Given the description of an element on the screen output the (x, y) to click on. 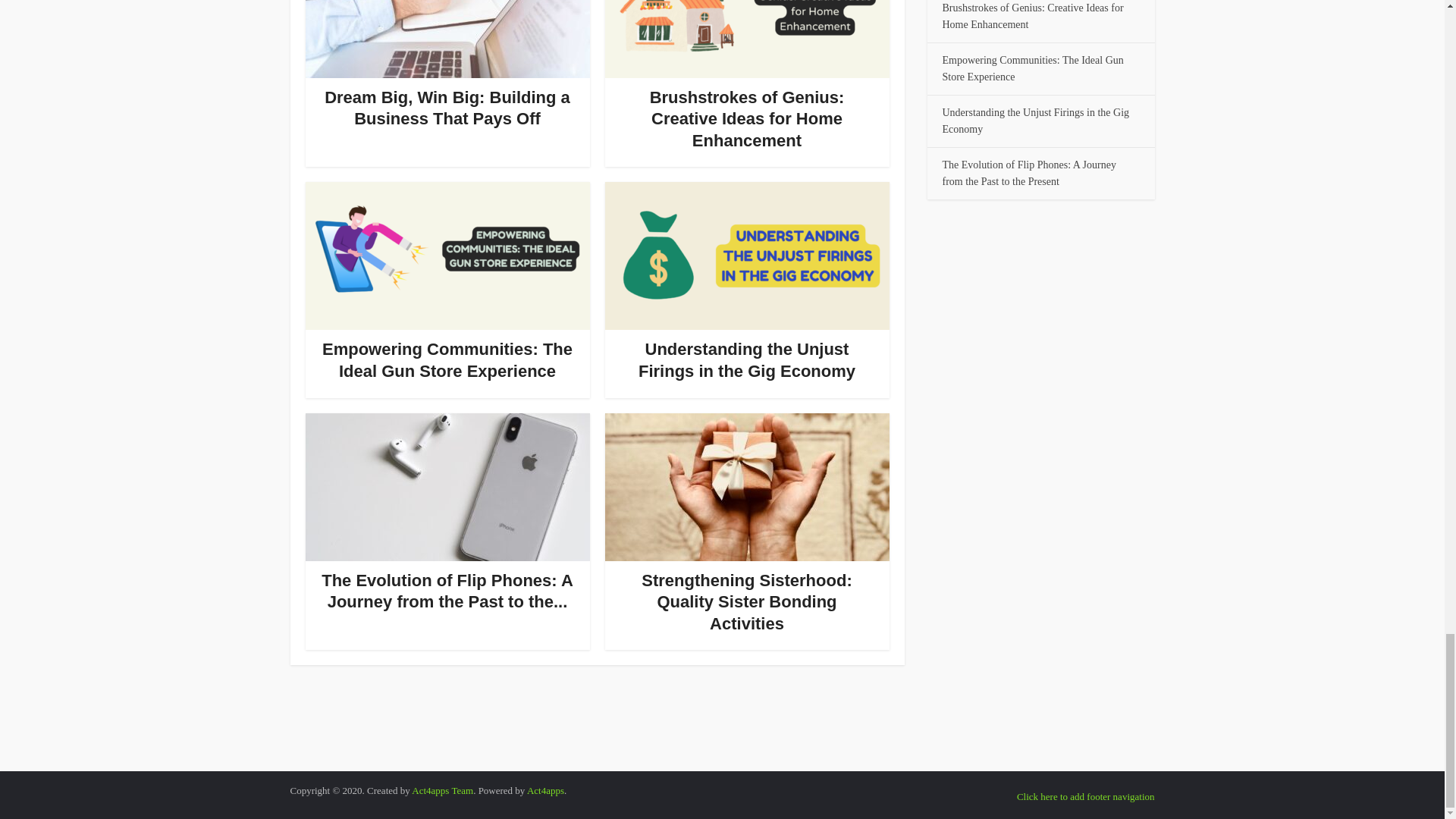
Brushstrokes of Genius: Creative Ideas for Home Enhancement (746, 118)
Understanding the Unjust Firings in the Gig Economy (747, 359)
Empowering Communities: The Ideal Gun Store Experience (446, 359)
Understanding the Unjust Firings in the Gig Economy (747, 359)
Brushstrokes of Genius: Creative Ideas for Home Enhancement (746, 118)
Dream Big, Win Big: Building a Business That Pays Off (447, 107)
Empowering Communities: The Ideal Gun Store Experience (446, 359)
Strengthening Sisterhood: Quality Sister Bonding Activities (746, 601)
Dream Big, Win Big: Building a Business That Pays Off (447, 107)
